Given the description of an element on the screen output the (x, y) to click on. 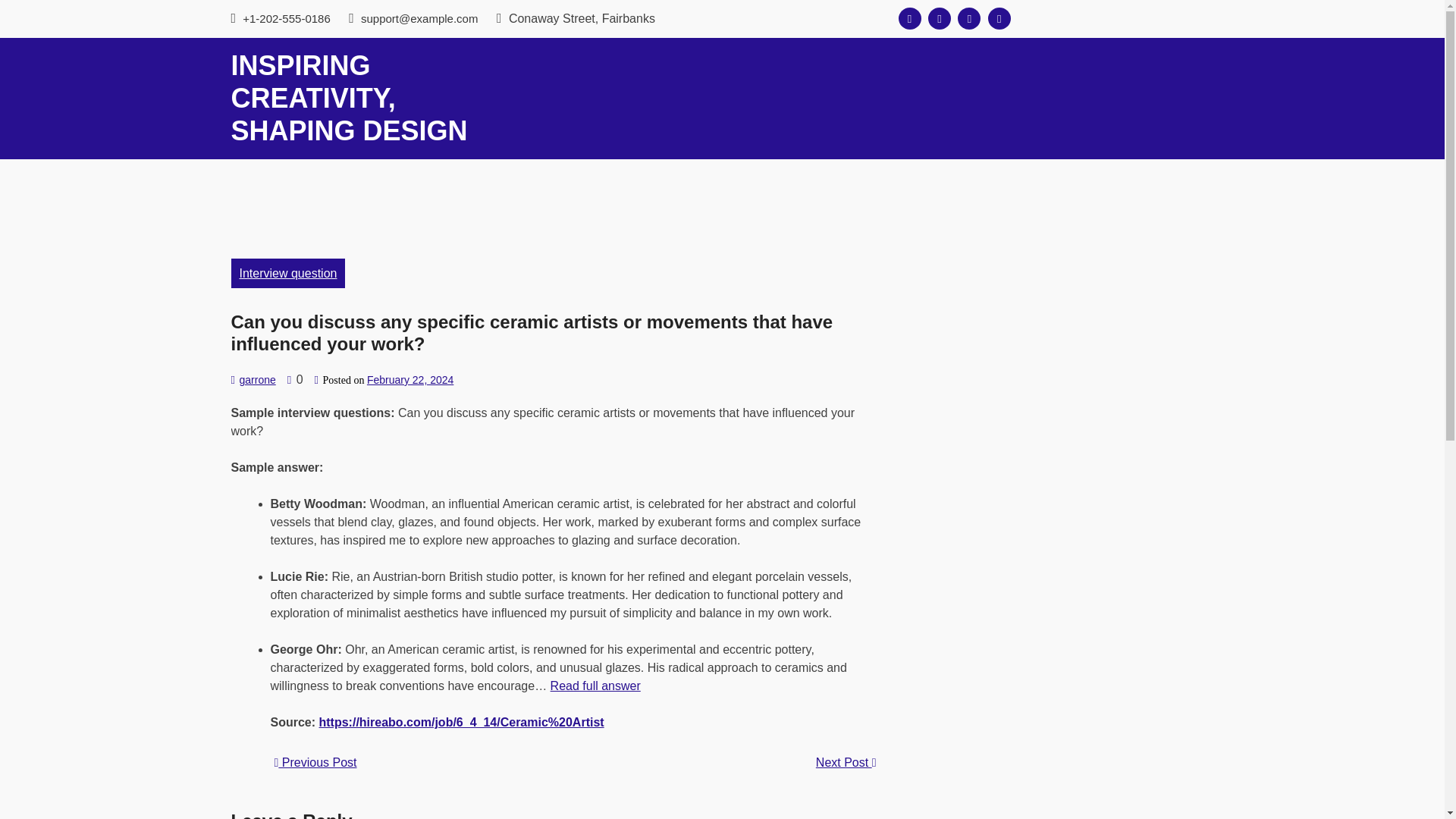
Previous Post (315, 762)
Interview question (287, 273)
Inspiring Creativity, Shaping Design (348, 97)
Next Post (845, 762)
garrone (256, 379)
February 22, 2024 (409, 379)
Read full answer (595, 685)
INSPIRING CREATIVITY, SHAPING DESIGN (348, 97)
